Given the description of an element on the screen output the (x, y) to click on. 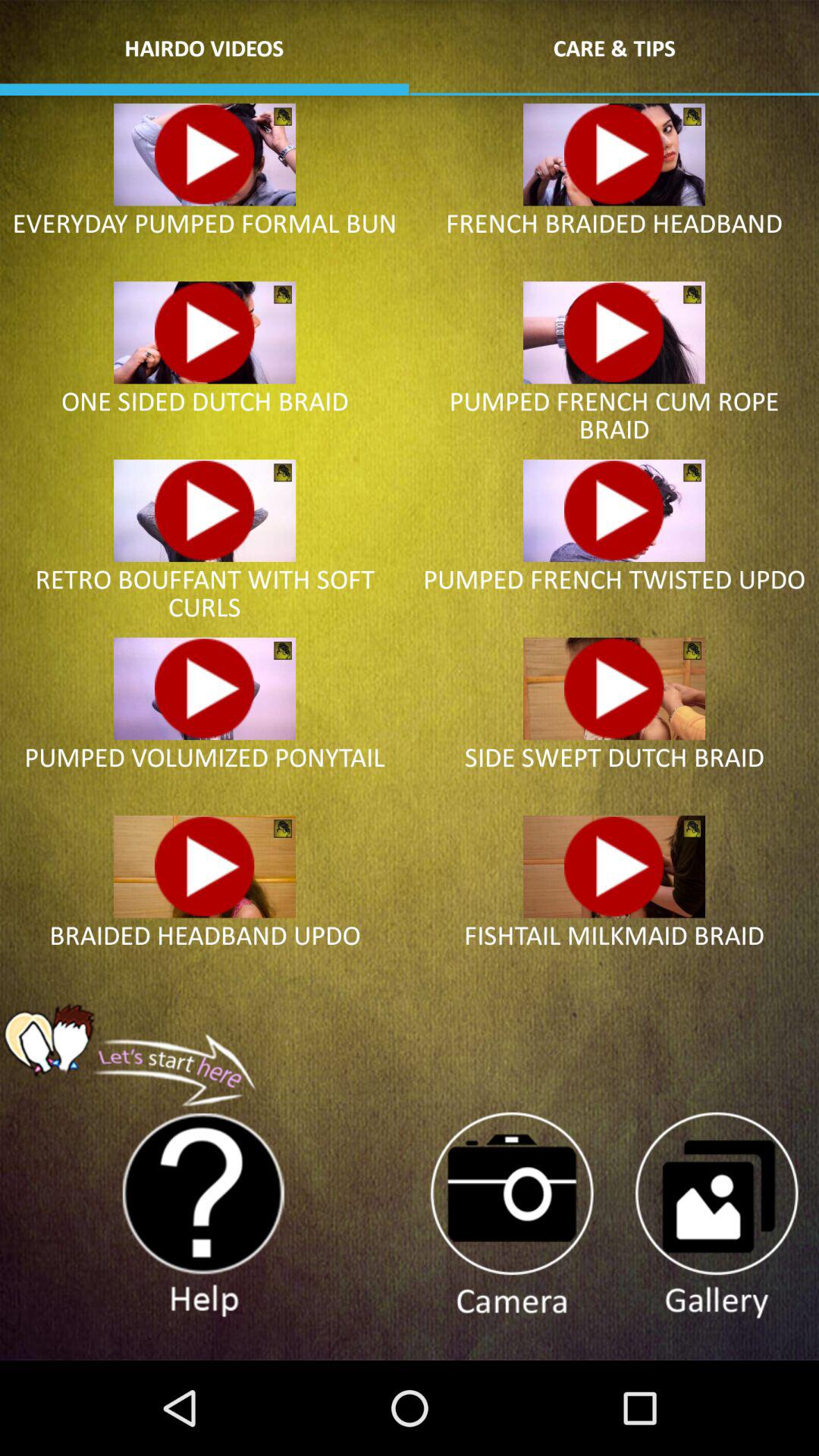
go to gallery button (716, 1215)
